Given the description of an element on the screen output the (x, y) to click on. 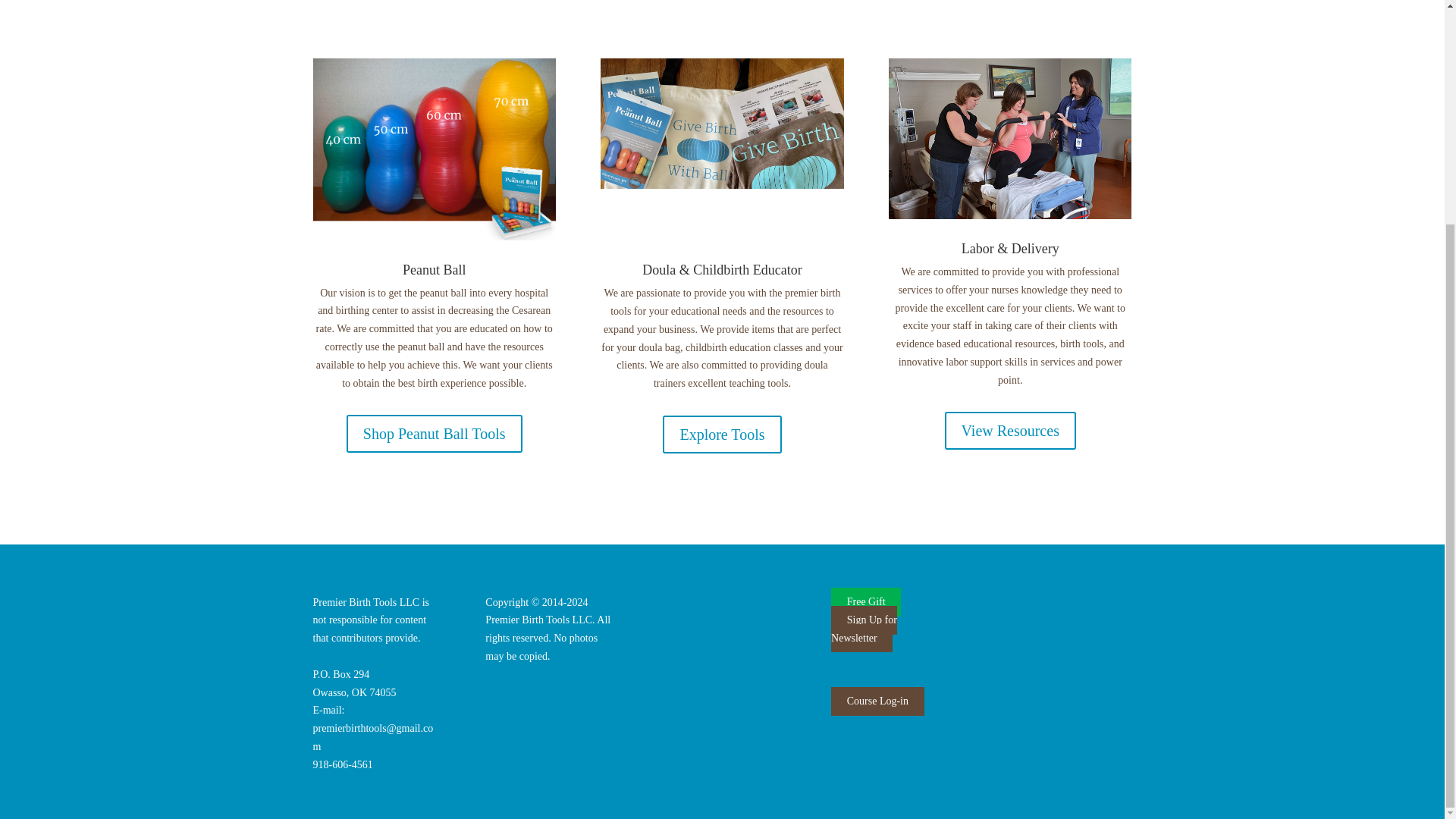
Explore Tools (721, 434)
Sign Up for Newsletter (863, 628)
Shop Peanut Ball Tools (434, 433)
Course Log-in (877, 701)
View Resources (1009, 430)
Free Gift (866, 602)
